Given the description of an element on the screen output the (x, y) to click on. 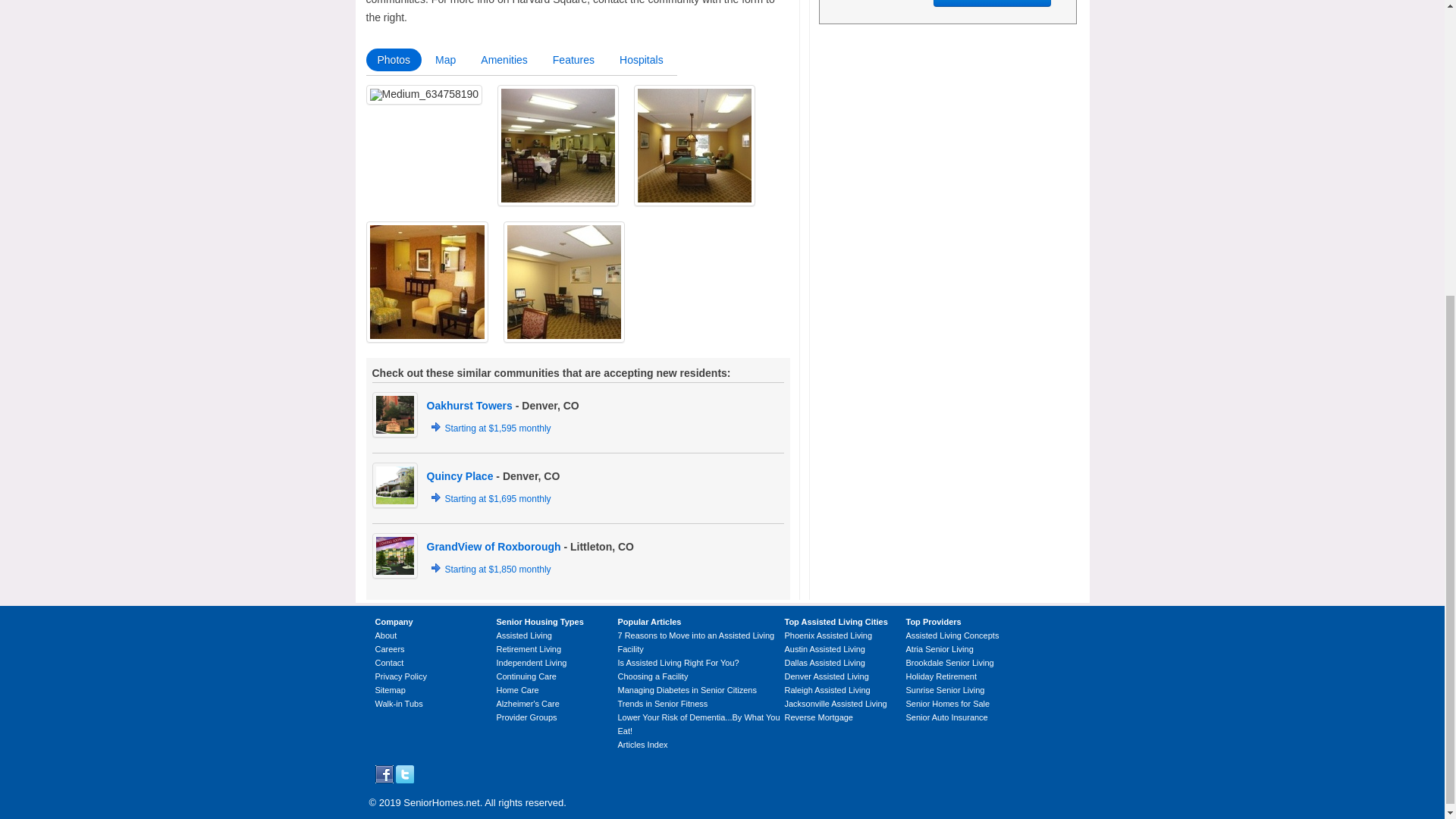
Hospitals (641, 59)
Contact (388, 662)
Quincy Place (459, 476)
Amenities (503, 59)
Walk-in Tubs (398, 703)
GrandView of Roxborough (493, 546)
Features (573, 59)
Map (445, 59)
Sitemap (389, 689)
Photos (393, 59)
Independent Living (531, 662)
About (385, 634)
Retirement Living (528, 648)
Oakhurst Towers (469, 405)
Privacy Policy (400, 675)
